Given the description of an element on the screen output the (x, y) to click on. 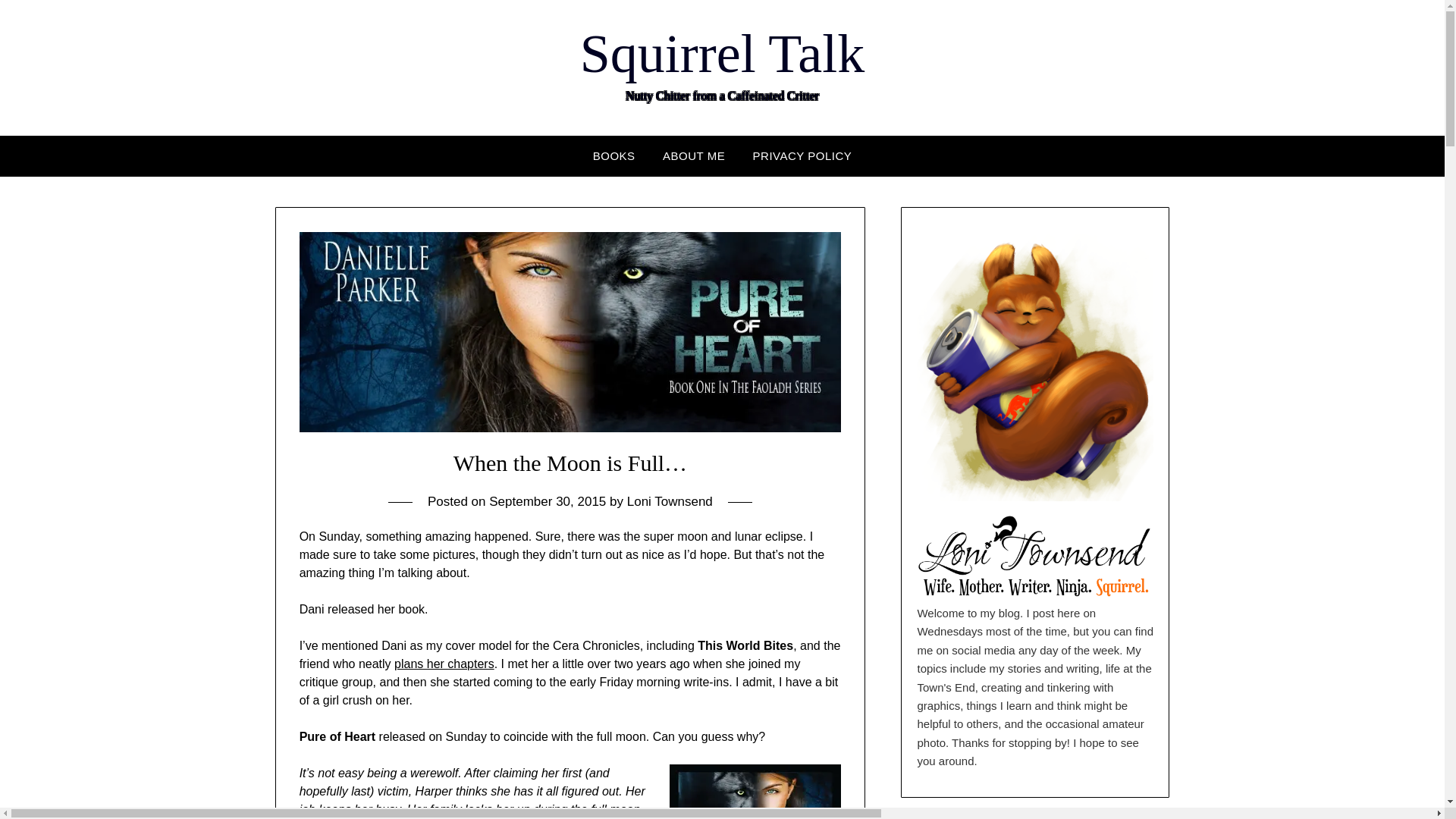
Squirrel Talk (721, 53)
PRIVACY POLICY (802, 155)
September 30, 2015 (547, 501)
plans her chapters (444, 663)
BOOKS (613, 155)
ABOUT ME (693, 155)
Loni Townsend (670, 501)
